Given the description of an element on the screen output the (x, y) to click on. 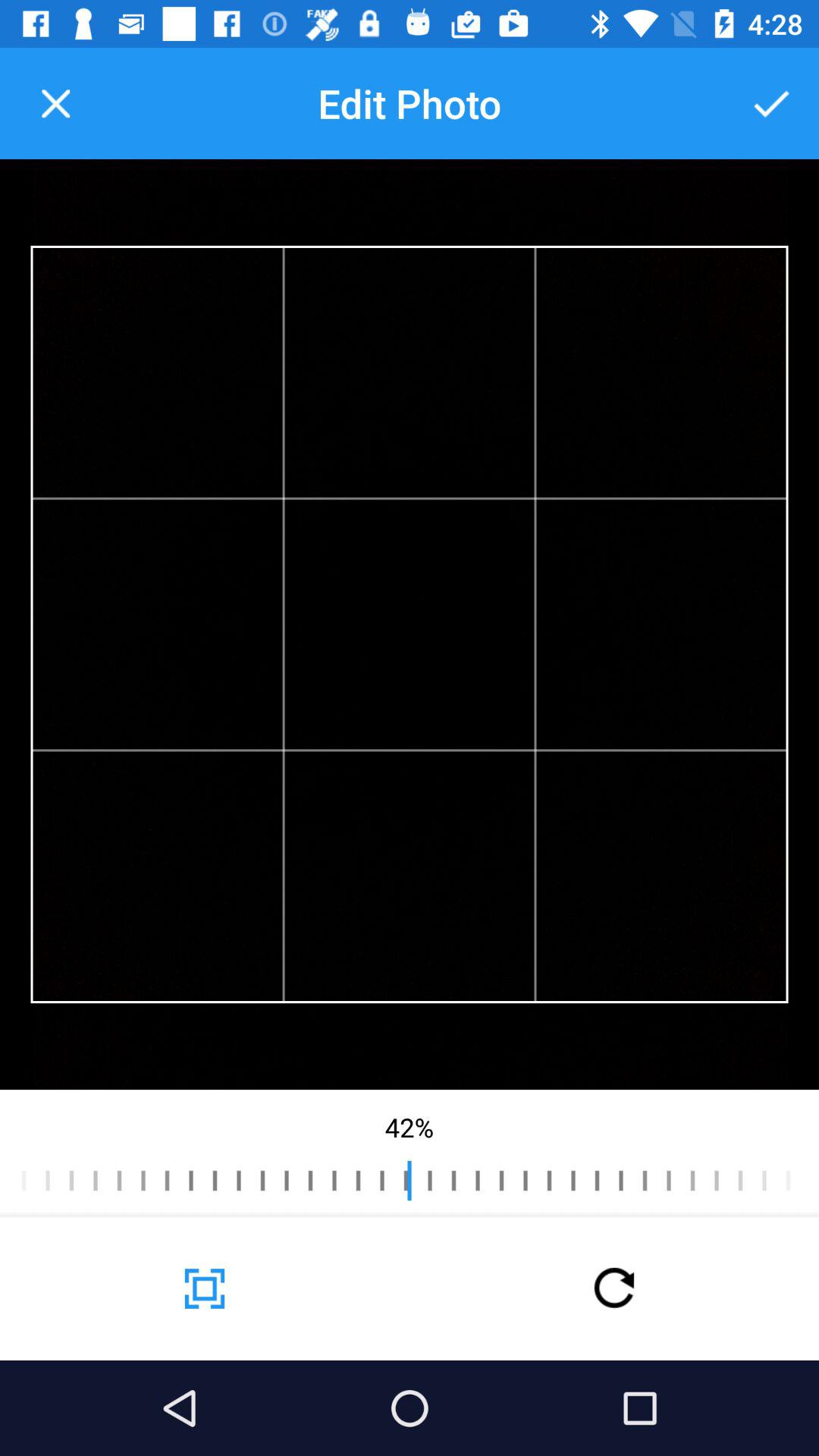
select icon at the top left corner (55, 103)
